Given the description of an element on the screen output the (x, y) to click on. 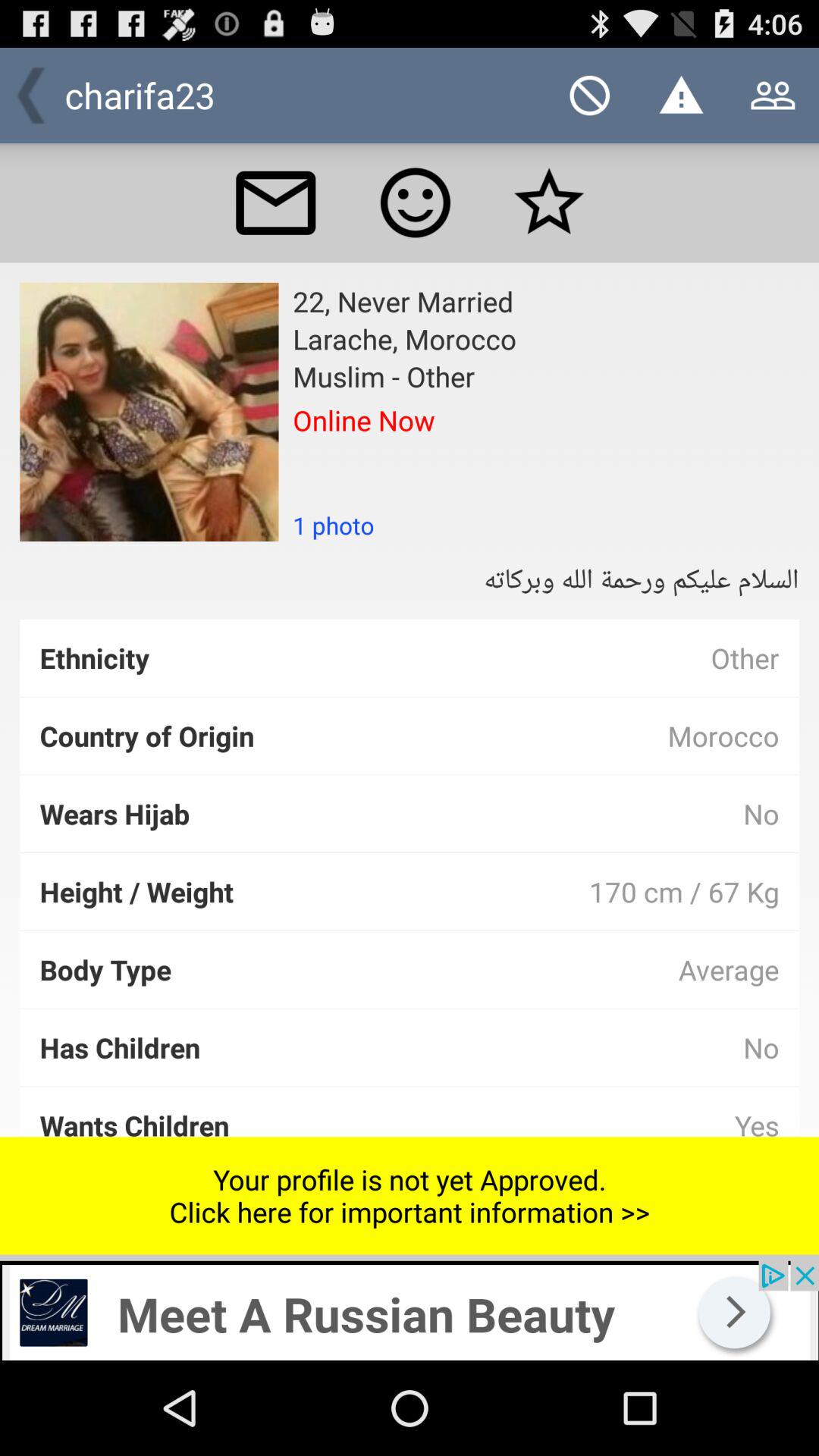
message option (275, 202)
